Given the description of an element on the screen output the (x, y) to click on. 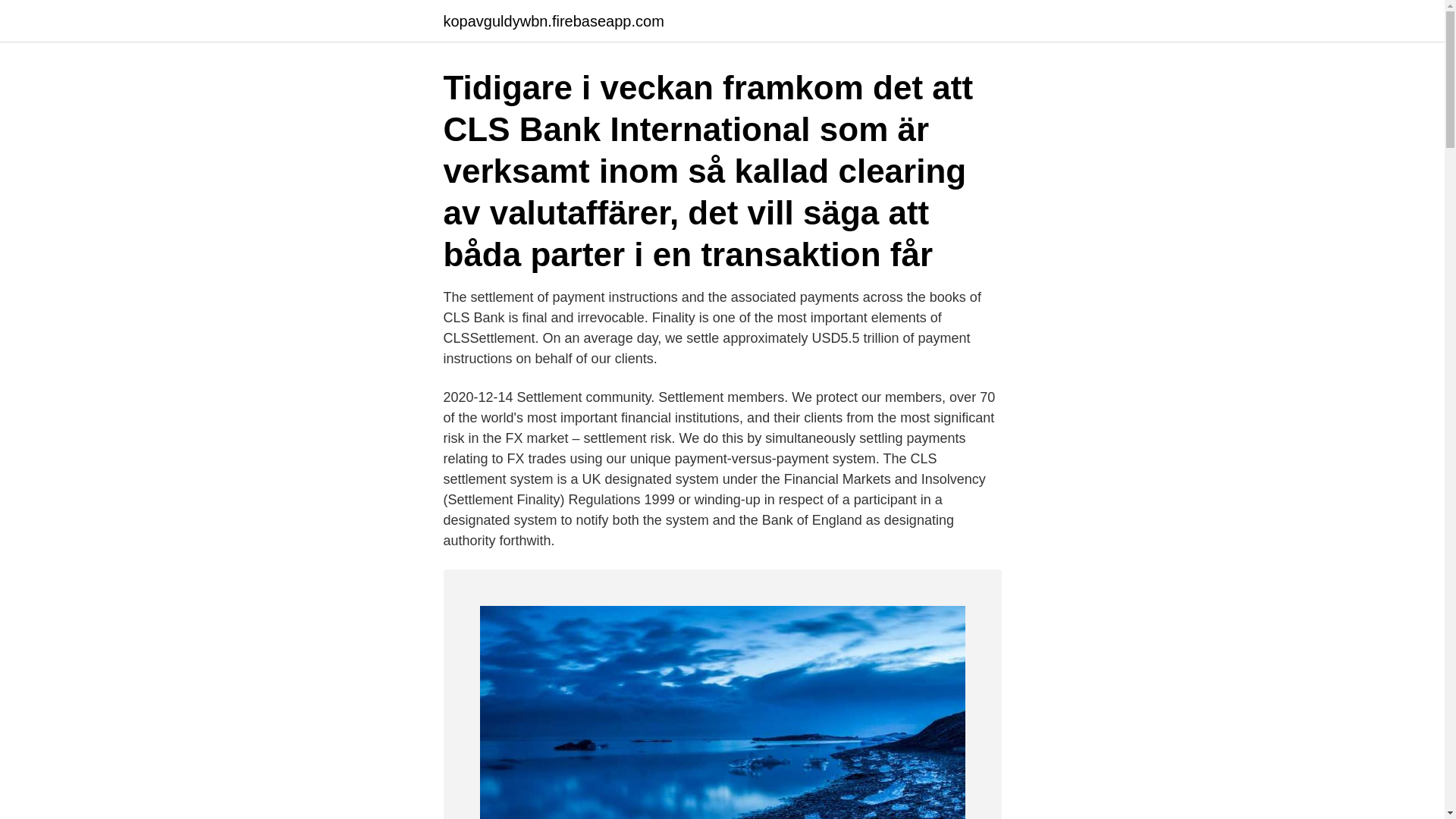
kopavguldywbn.firebaseapp.com (552, 20)
